Given the description of an element on the screen output the (x, y) to click on. 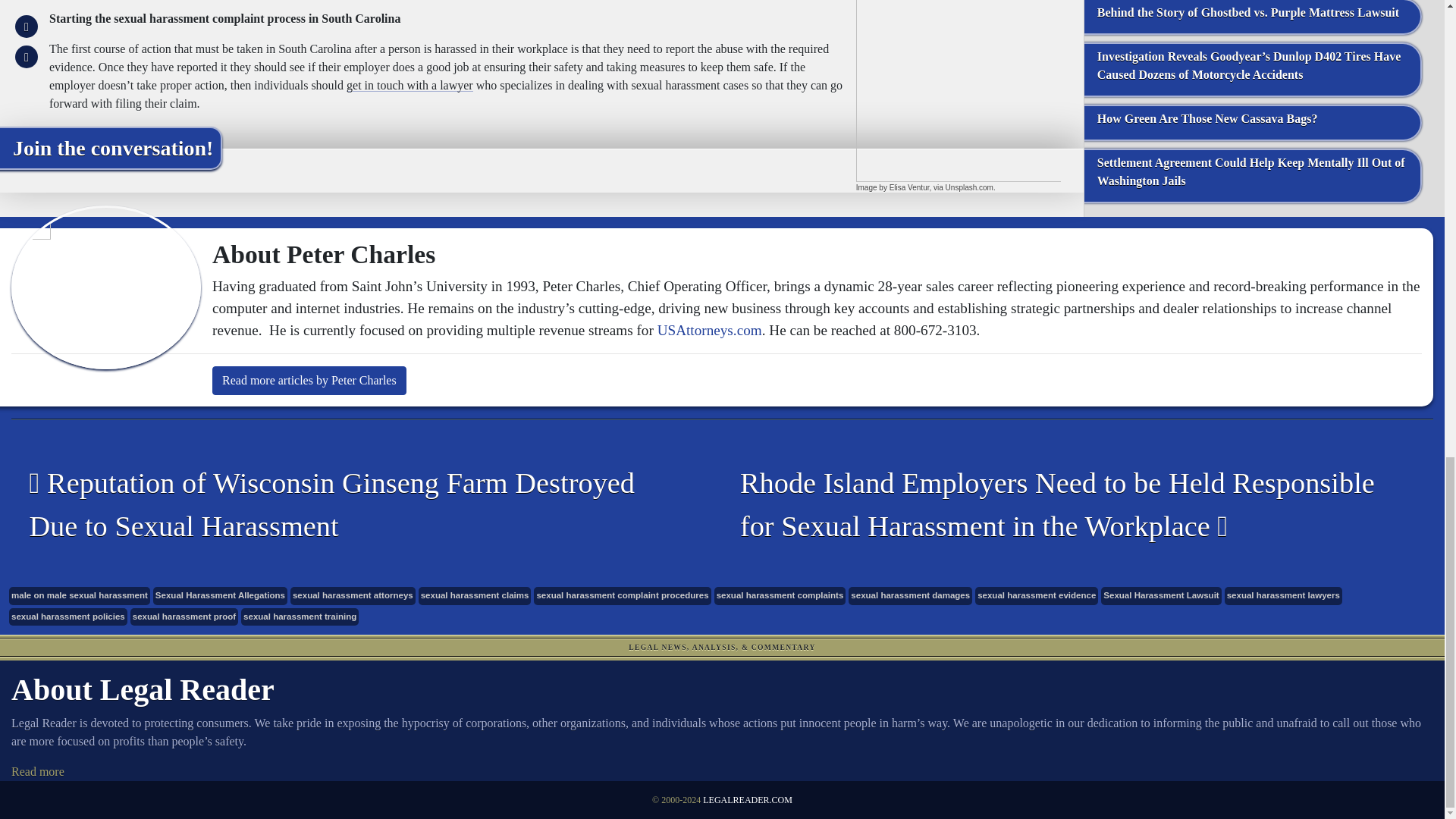
sexual harassment evidence (1036, 595)
Sexual Harassment Allegations (219, 595)
sexual harassment complaint procedures (622, 595)
sexual harassment claims (475, 595)
get in touch with a lawyer (409, 84)
Read more articles by Peter Charles (309, 380)
male on male sexual harassment (78, 595)
sexual harassment complaints (779, 595)
sexual harassment attorneys (351, 595)
sexual harassment damages (910, 595)
USAttorneys.com (709, 330)
Read more articles by Peter Charles (309, 380)
